Given the description of an element on the screen output the (x, y) to click on. 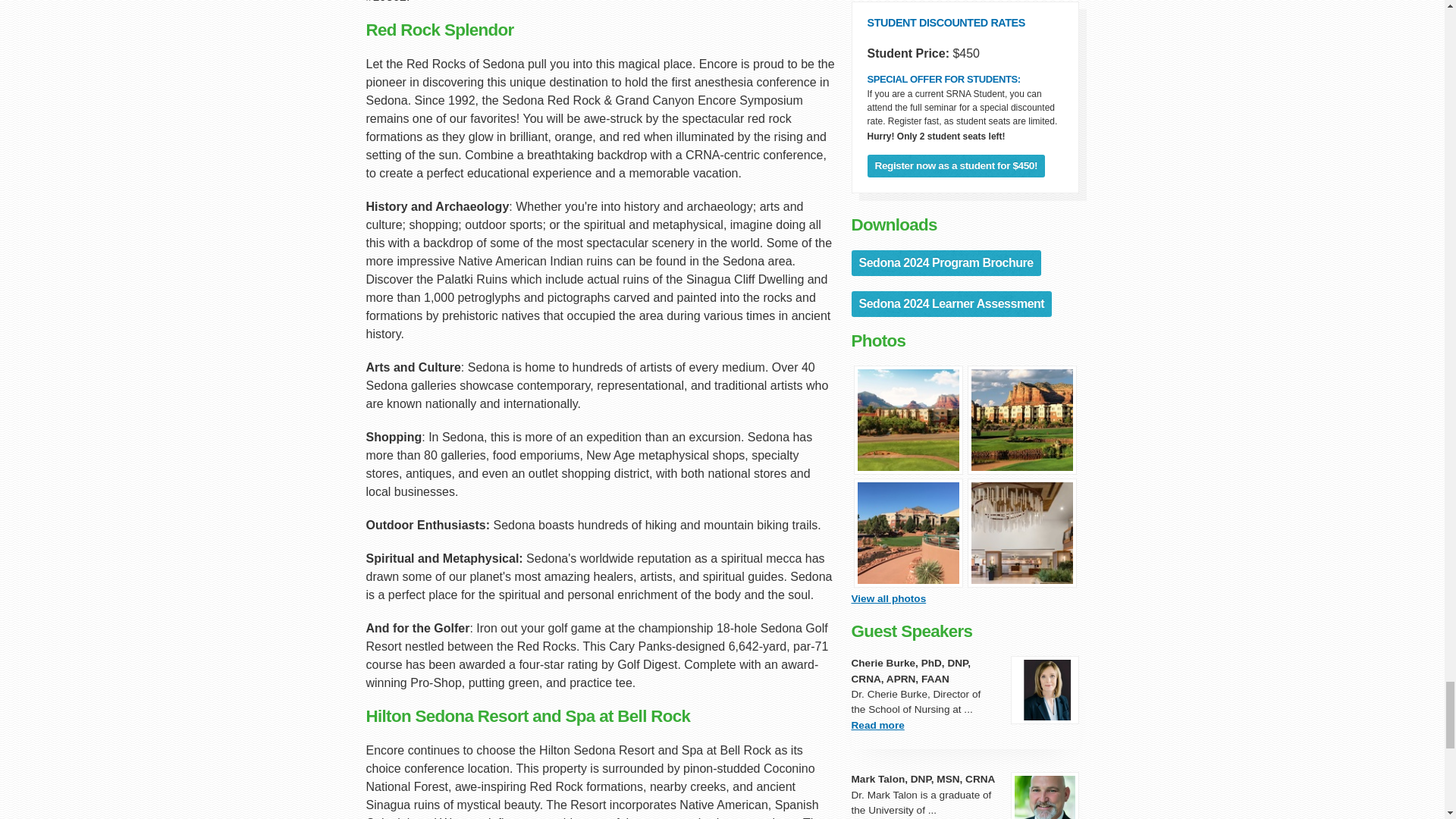
Sedona 2024 Program Brochure (945, 263)
View all photos (888, 598)
Sedona 2024 Learner Assessment (950, 303)
